Given the description of an element on the screen output the (x, y) to click on. 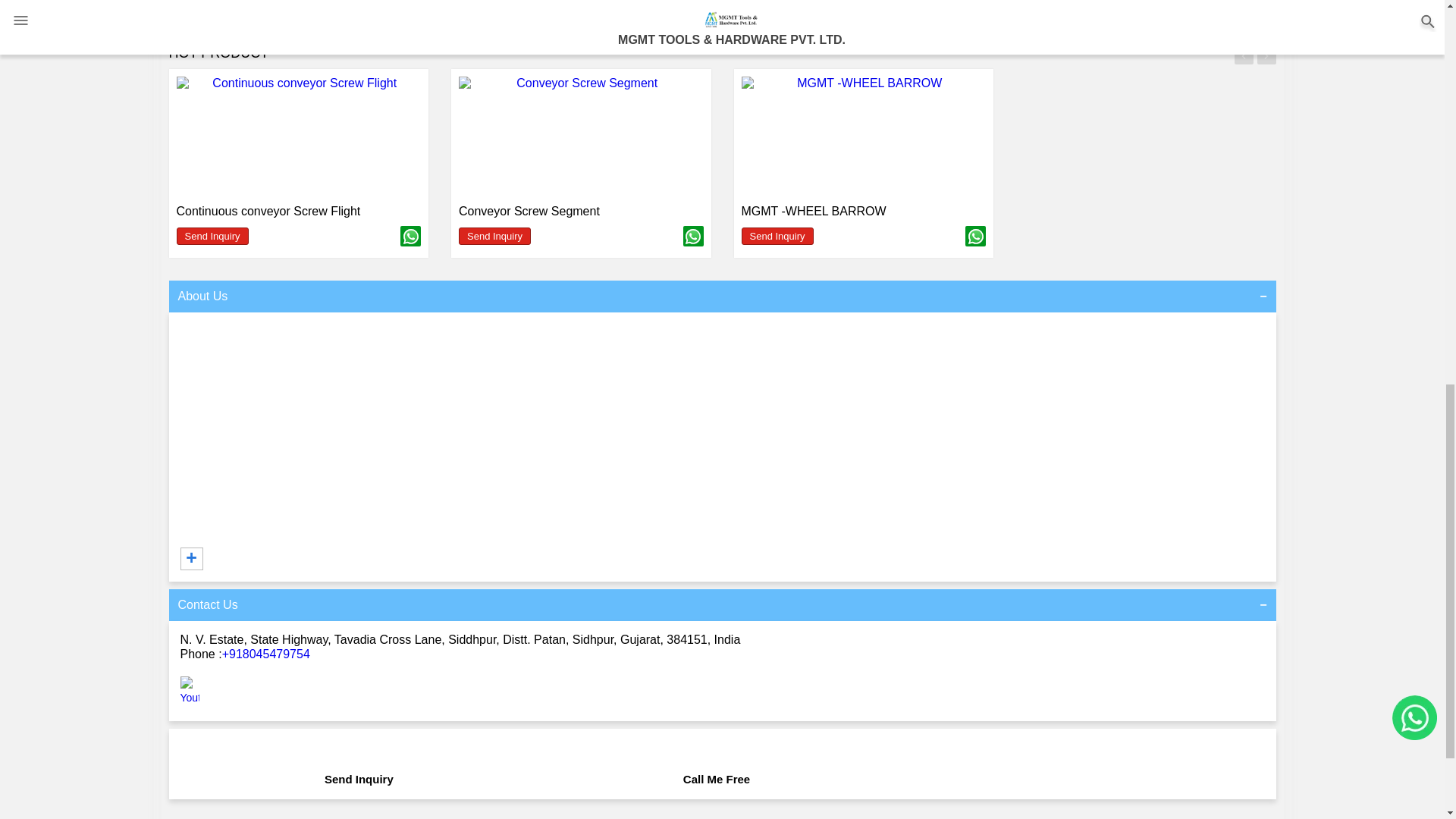
Youtube (189, 697)
